Given the description of an element on the screen output the (x, y) to click on. 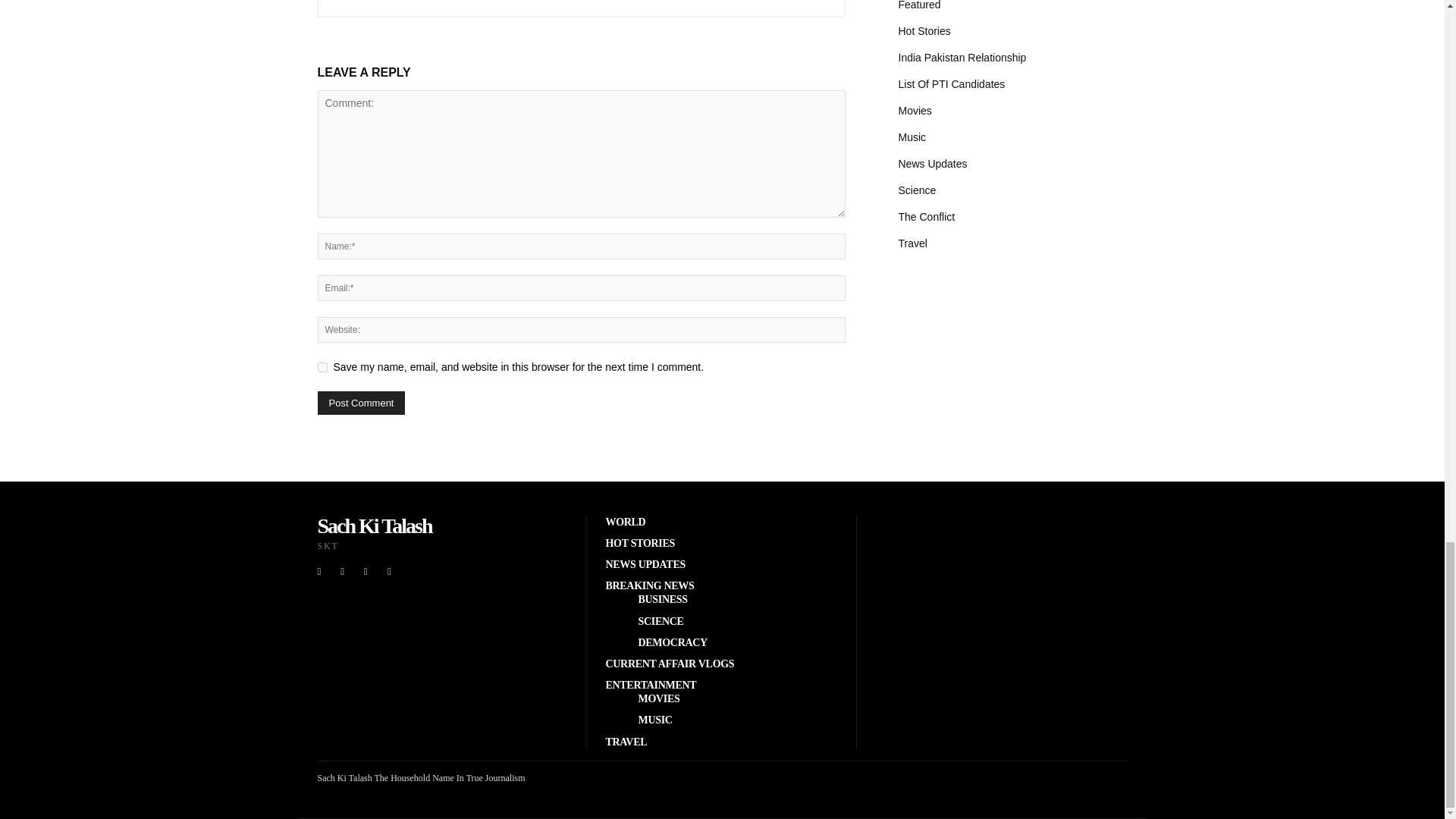
yes (321, 367)
Post Comment (360, 402)
